Given the description of an element on the screen output the (x, y) to click on. 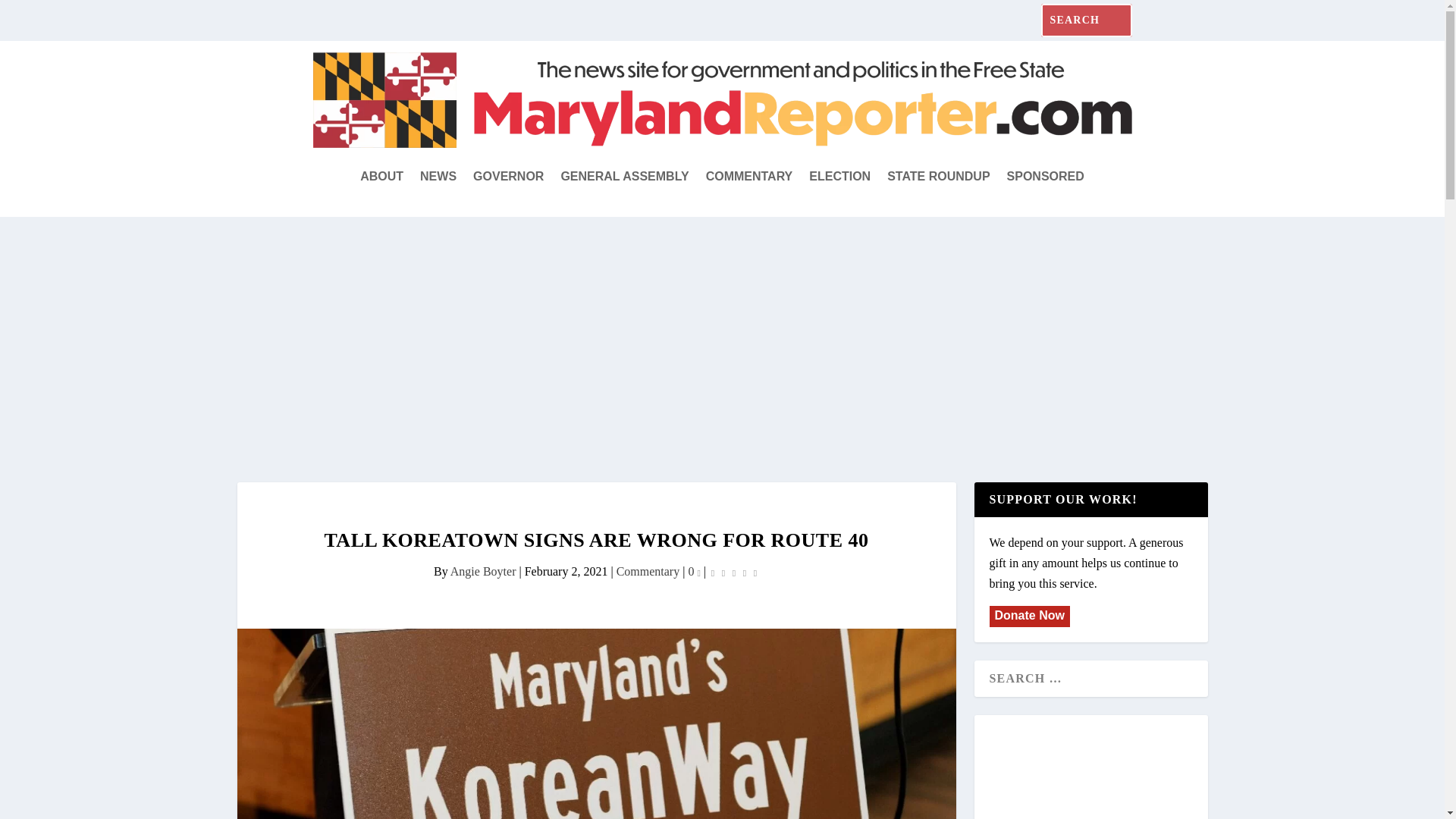
Search (29, 16)
Commentary (647, 571)
STATE ROUNDUP (938, 176)
GENERAL ASSEMBLY (624, 176)
Posts by Angie Boyter (482, 571)
COMMENTARY (749, 176)
Rating: 2.50 (733, 572)
GOVERNOR (508, 176)
Angie Boyter (482, 571)
